Given the description of an element on the screen output the (x, y) to click on. 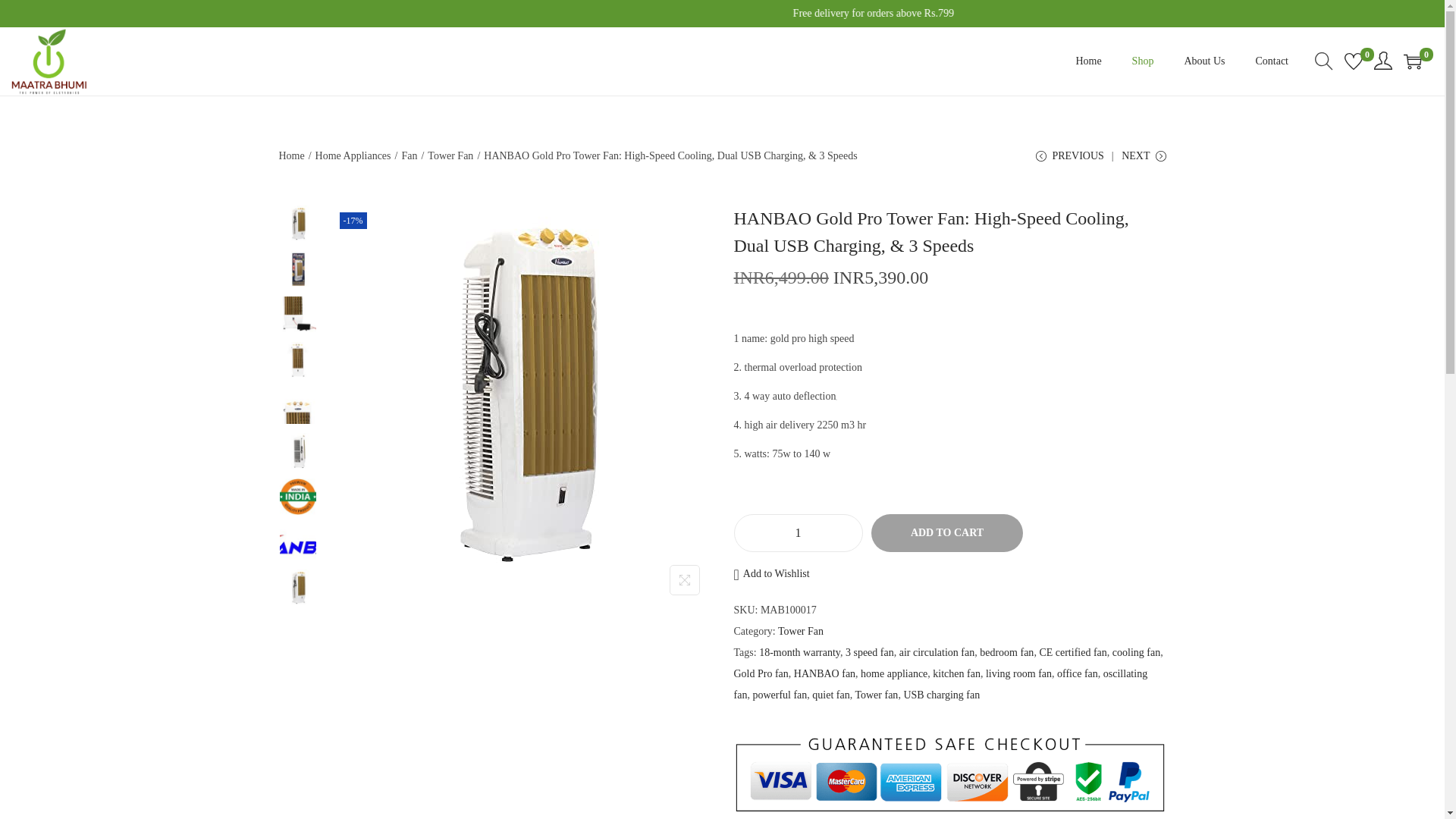
ADD TO CART (946, 533)
Home (291, 155)
Fan (408, 155)
PREVIOUS (1069, 161)
1 (797, 532)
0 (1412, 61)
0 (1352, 61)
Home Appliances (353, 155)
NEXT (1143, 161)
Tower Fan (450, 155)
